Given the description of an element on the screen output the (x, y) to click on. 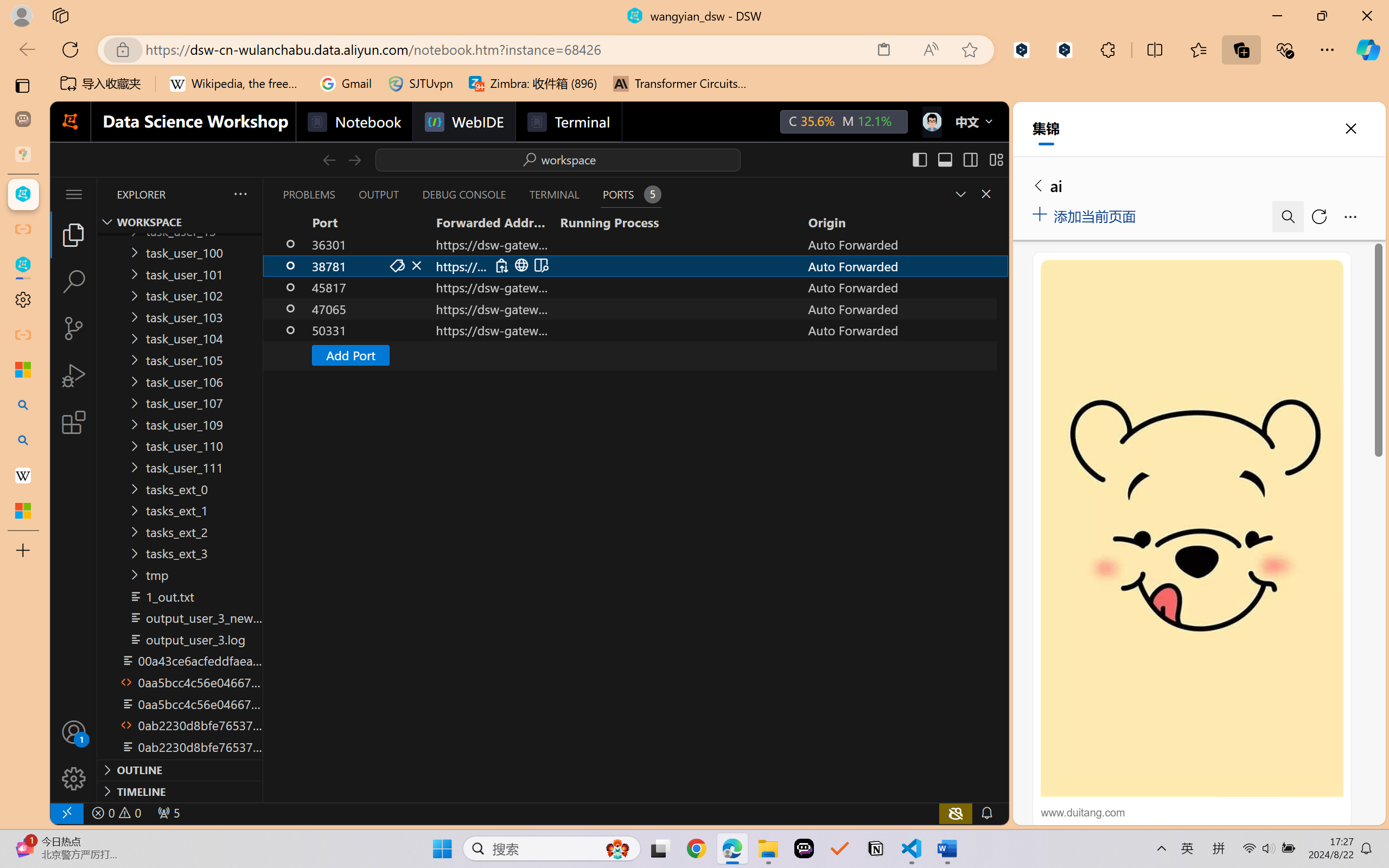
Customize Layout... (995, 159)
Debug Console (Ctrl+Shift+Y) (463, 194)
Close Panel (986, 193)
Problems (Ctrl+Shift+M) (308, 194)
Toggle Secondary Side Bar (Ctrl+Alt+B) (969, 159)
Stop Forwarding Port (Delete) (416, 265)
copilot-notconnected, Copilot error (click for details) (955, 812)
Explorer (Ctrl+Shift+E) (73, 234)
